Given the description of an element on the screen output the (x, y) to click on. 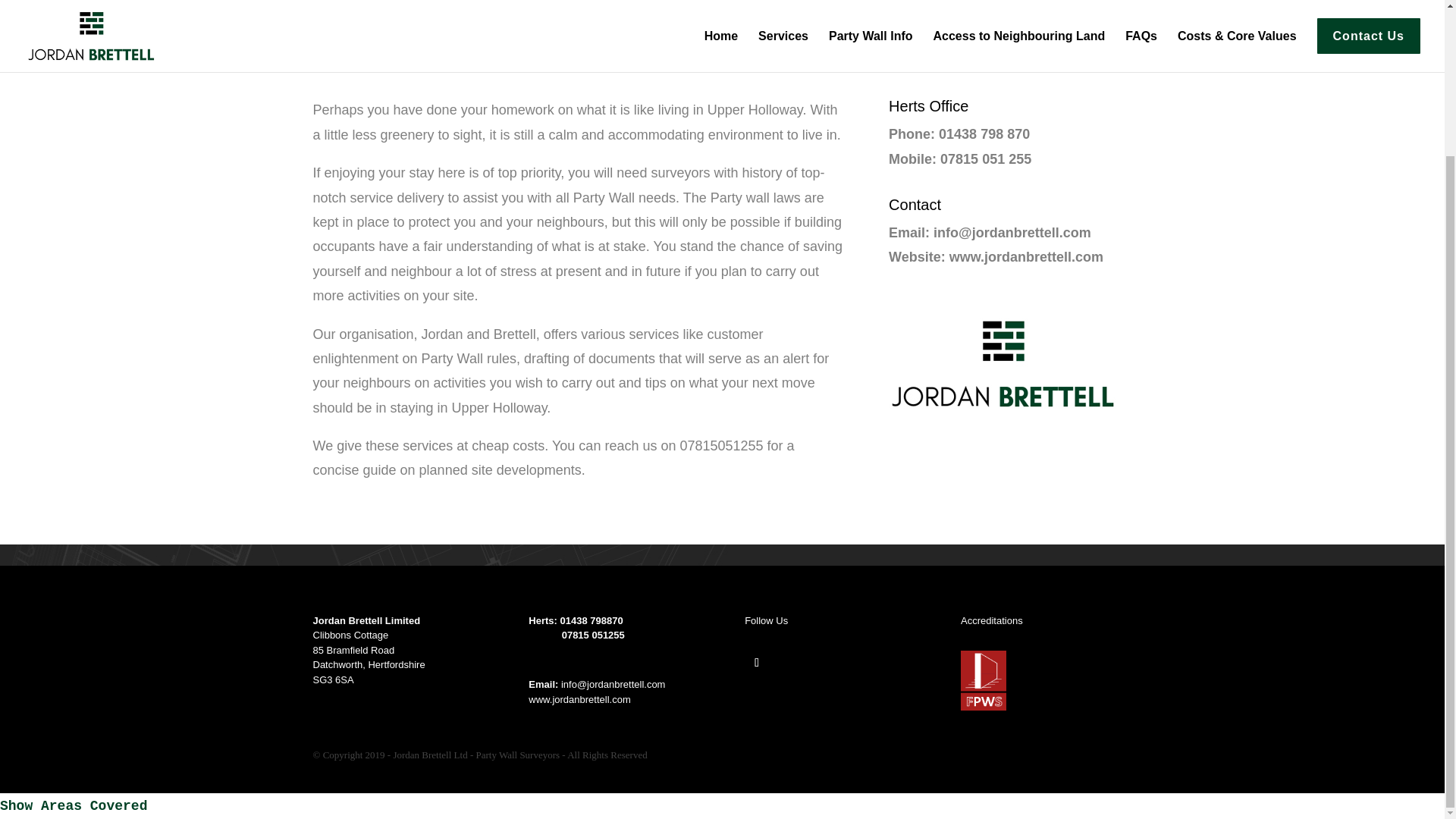
Follow on Twitter (756, 662)
